Given the description of an element on the screen output the (x, y) to click on. 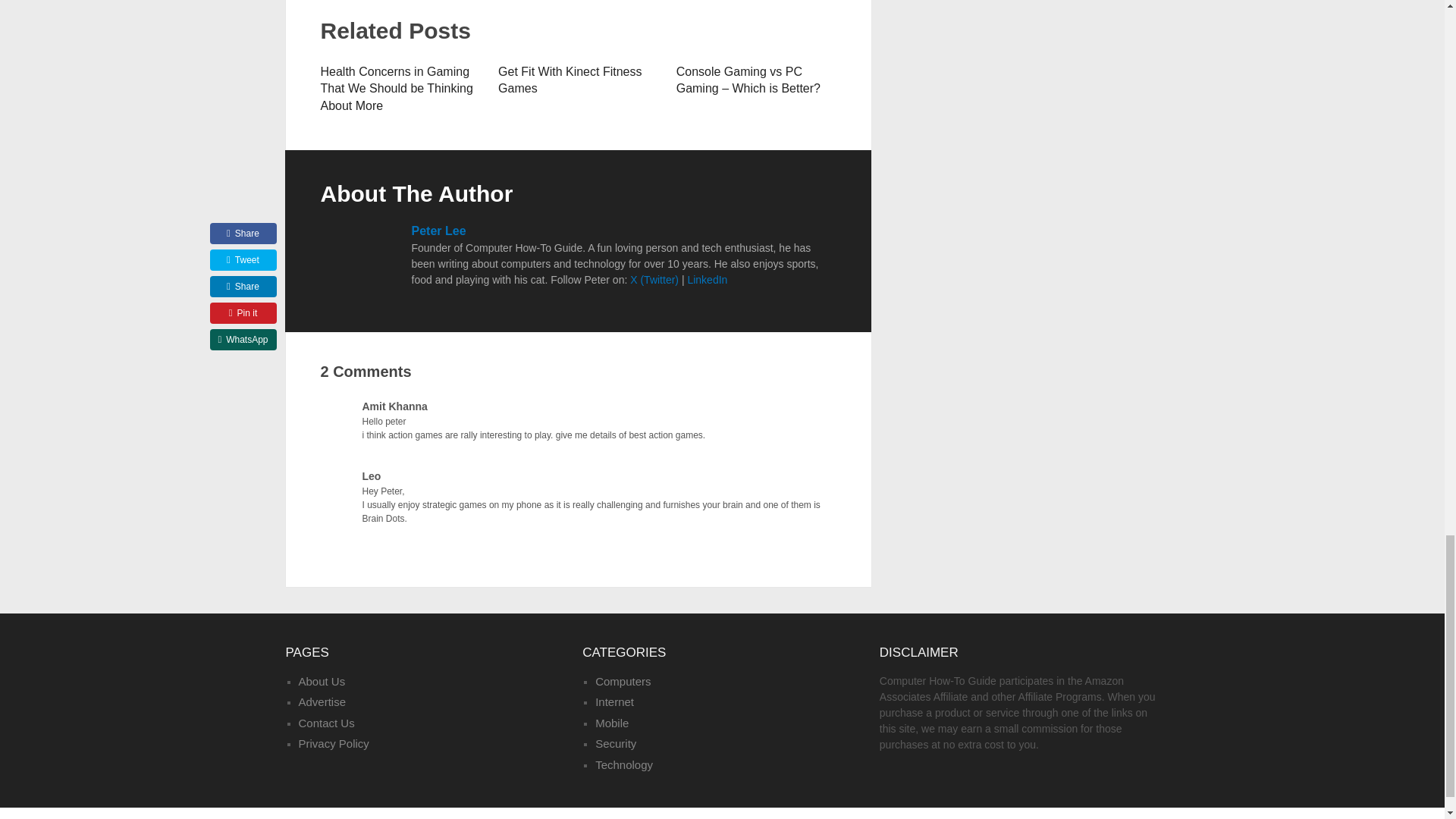
Get Fit With Kinect Fitness Games (569, 80)
